Given the description of an element on the screen output the (x, y) to click on. 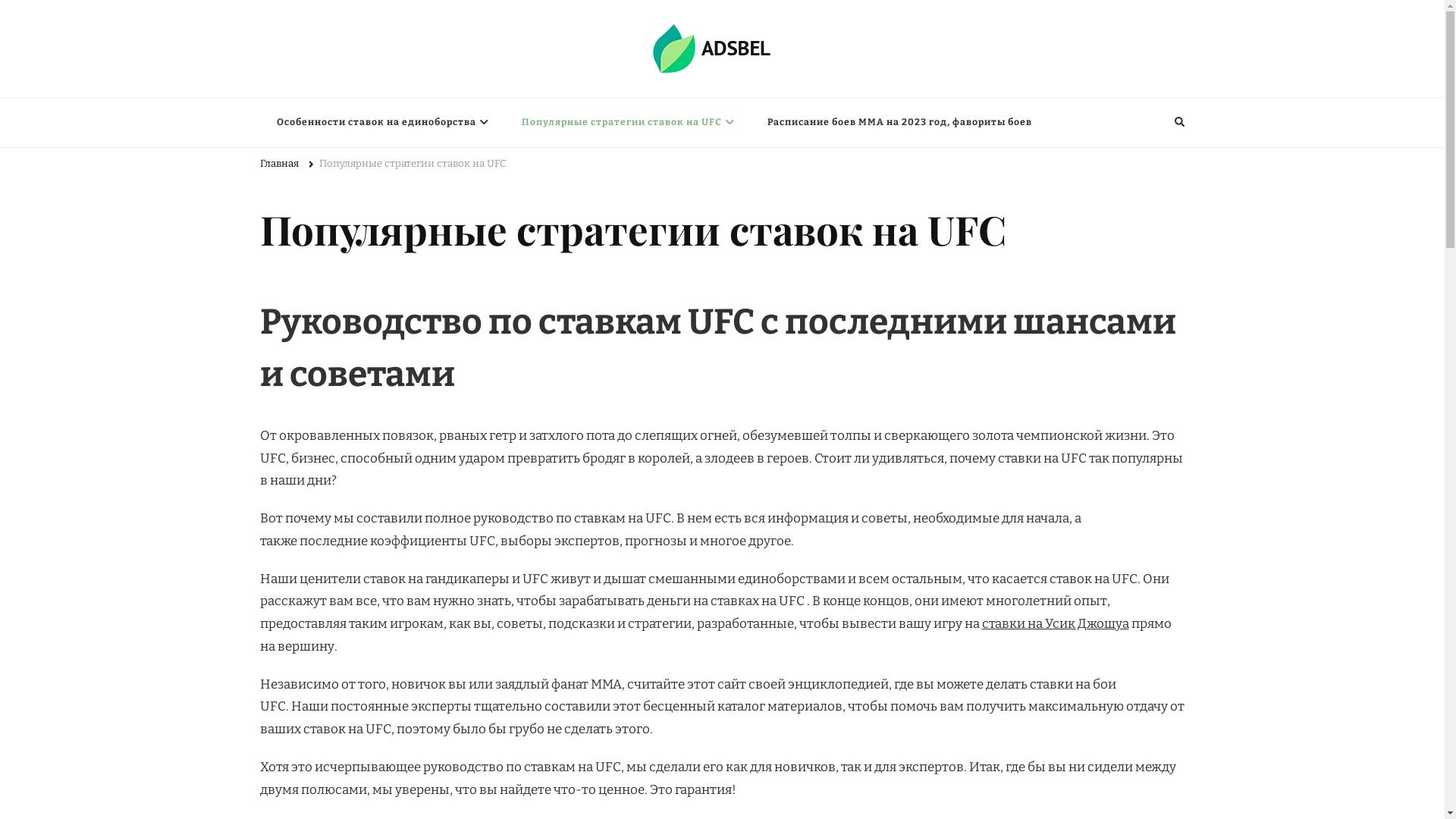
adsbel.by Element type: text (298, 88)
